Given the description of an element on the screen output the (x, y) to click on. 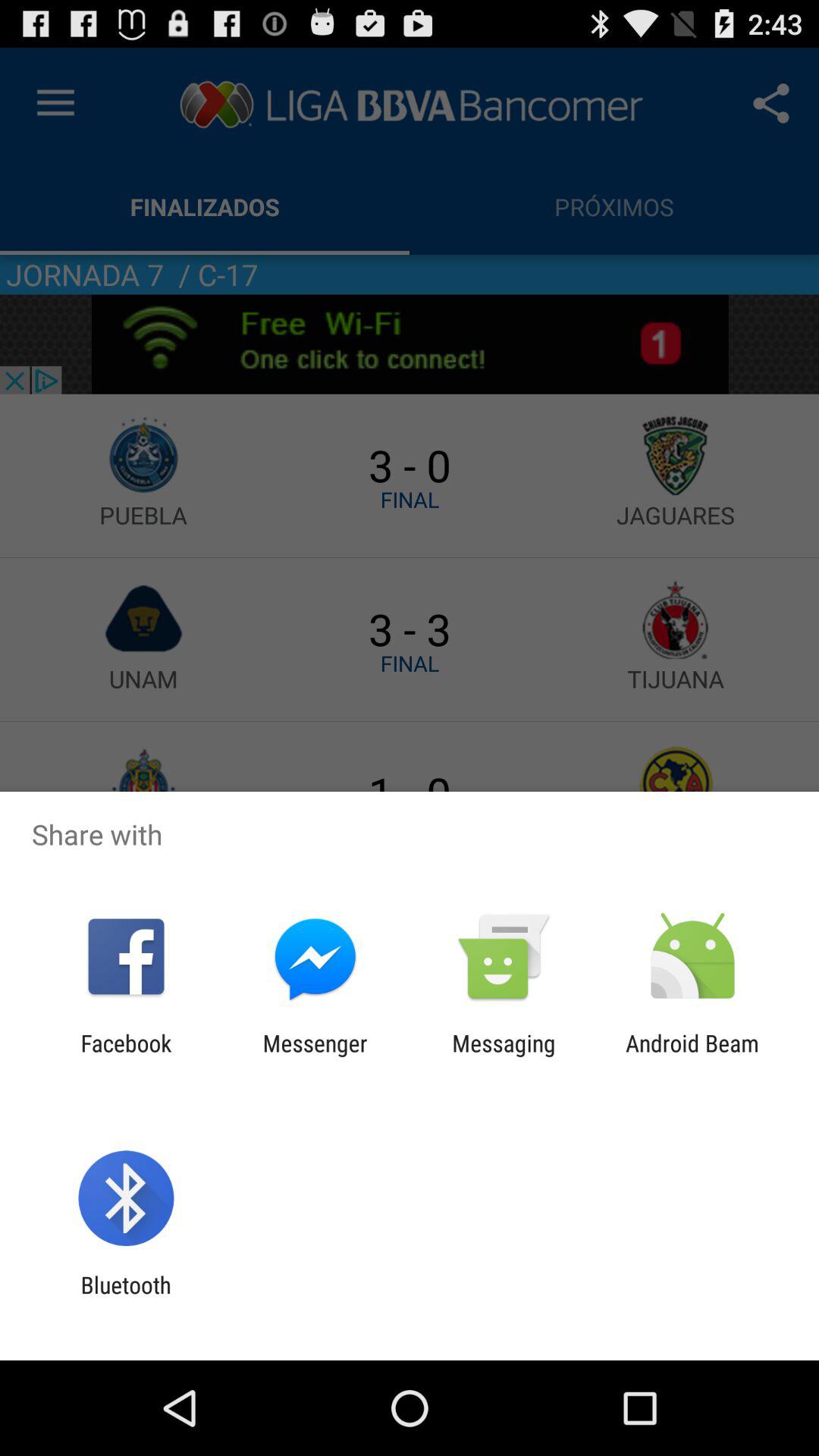
flip to facebook app (125, 1056)
